Given the description of an element on the screen output the (x, y) to click on. 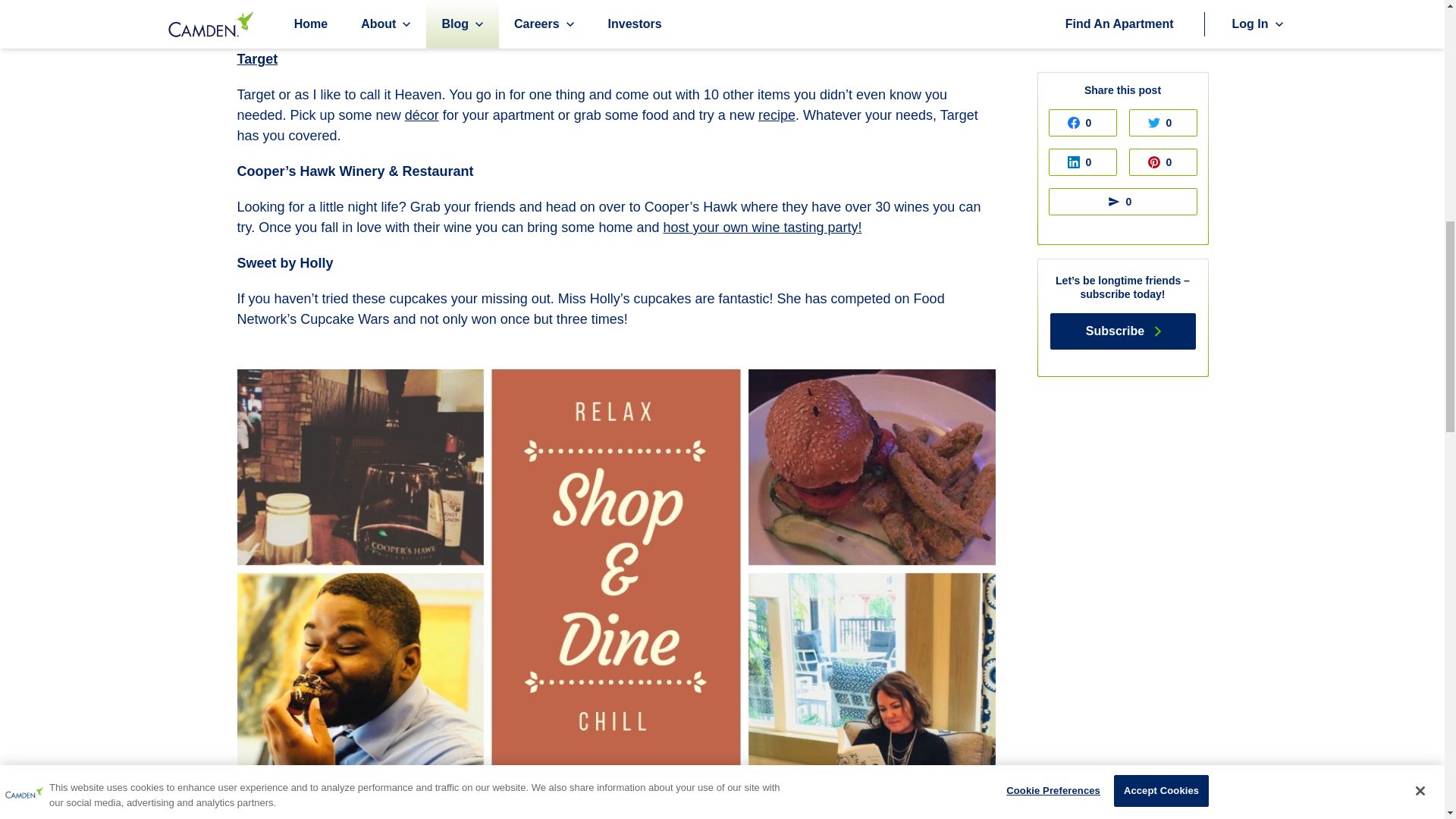
recipe (776, 114)
Target (256, 58)
host your own wine tasting party! (761, 227)
